Given the description of an element on the screen output the (x, y) to click on. 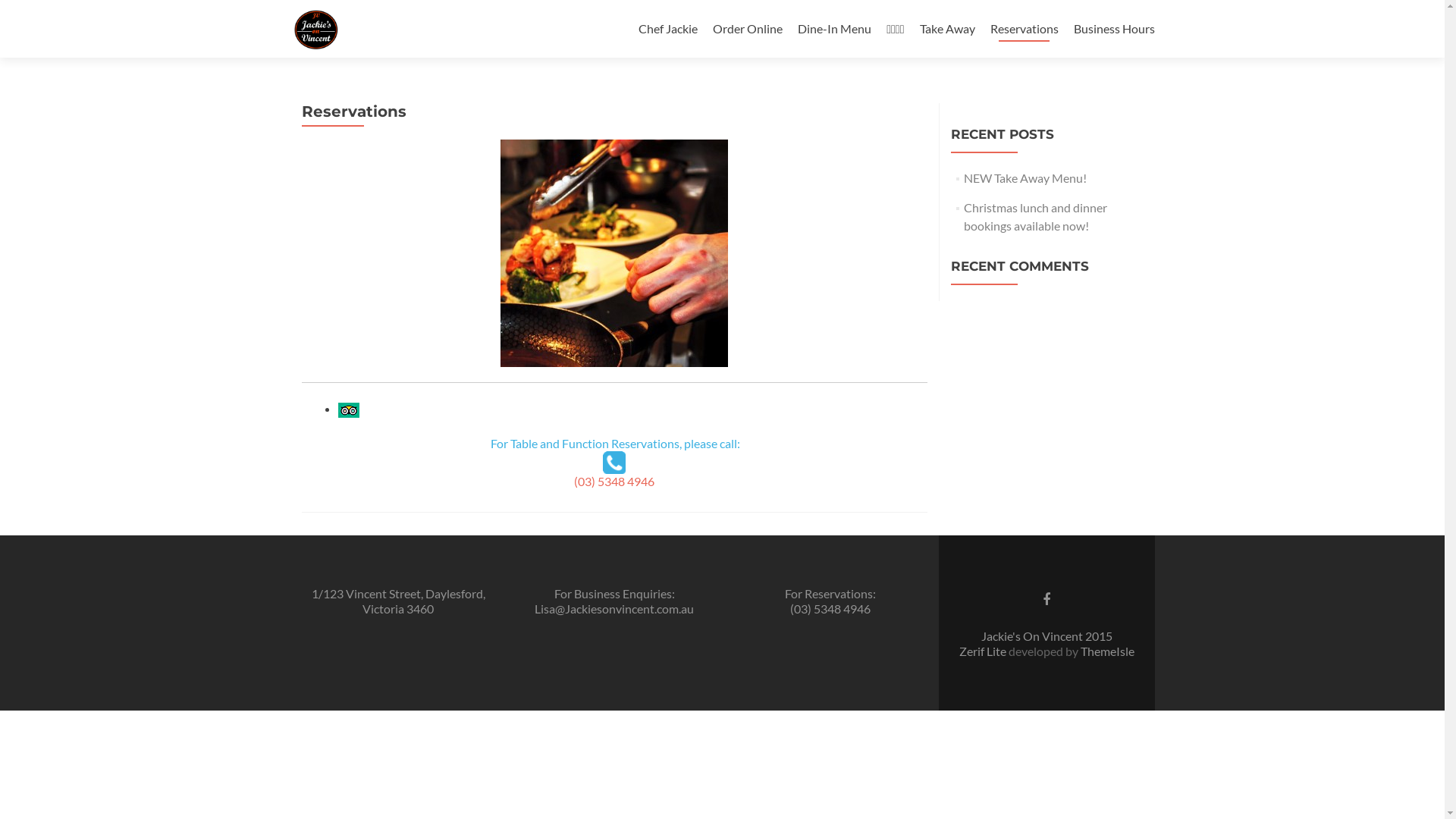
Lisa@Jackiesonvincent.com.au Element type: text (613, 608)
Chef Jackie Element type: text (667, 28)
Take Away Element type: text (946, 28)
Zerif Lite Element type: text (982, 650)
Facebook link Element type: text (1046, 597)
Order Online Element type: text (747, 28)
Skip to content Element type: text (677, 9)
Christmas lunch and dinner bookings available now! Element type: text (1035, 216)
ThemeIsle Element type: text (1106, 650)
NEW Take Away Menu! Element type: text (1024, 177)
Business Hours Element type: text (1113, 28)
Reservations Element type: text (1024, 28)
Dine-In Menu Element type: text (834, 28)
(03) 5348 4946 Element type: text (614, 480)
(03) 5348 4946 Element type: text (830, 608)
